Given the description of an element on the screen output the (x, y) to click on. 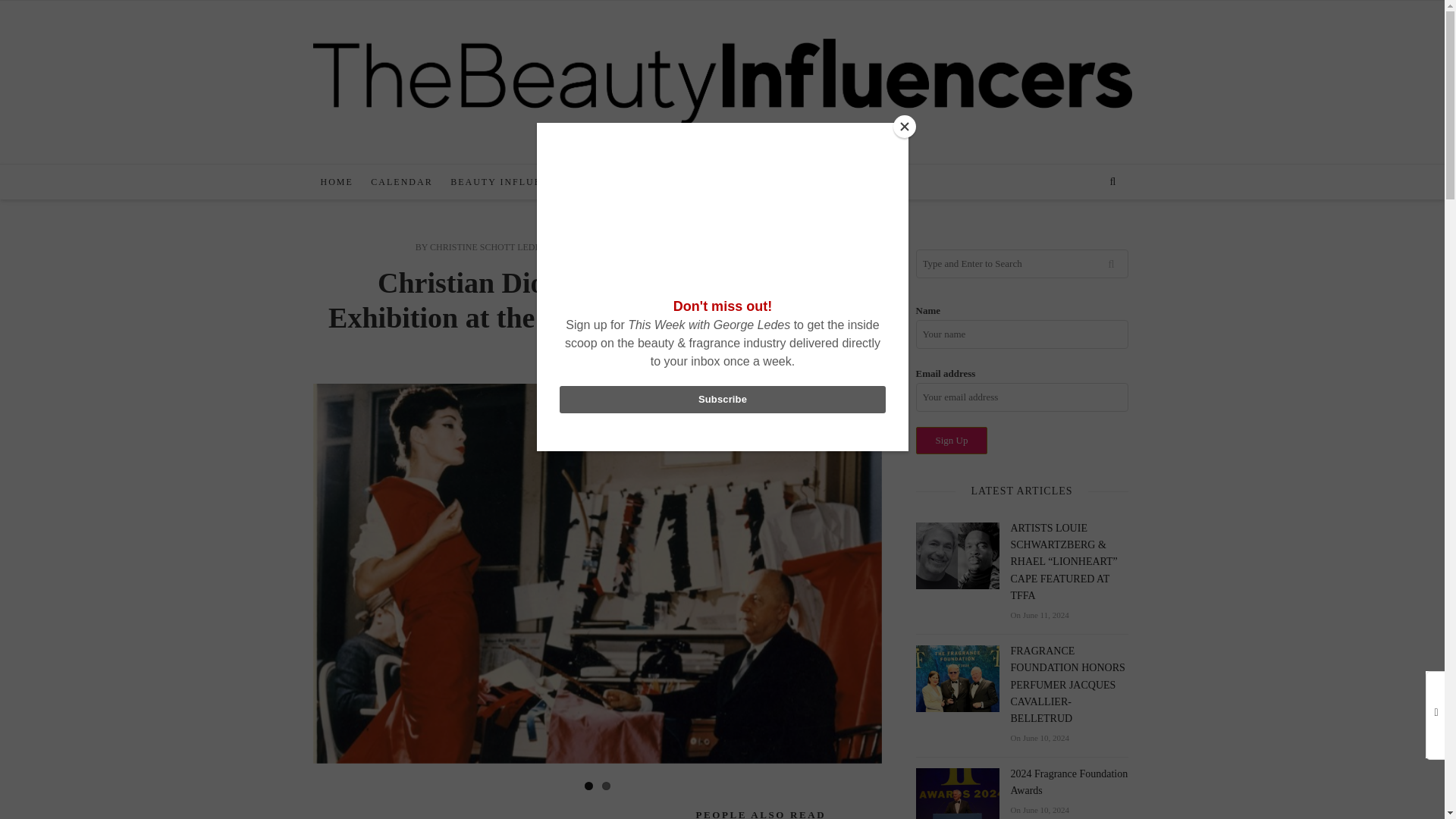
BEAUTY INFLUENCER ASSOCIATION (550, 182)
CHRISTINE SCHOTT LEDES (486, 246)
1 (587, 786)
ABOUT (769, 182)
Sign Up (951, 440)
The Beauty Influencers (722, 80)
2 (606, 786)
SPOTLIGHT (661, 246)
HOME (336, 182)
CALENDAR (400, 182)
SUBSCRIBE (700, 182)
NO COMMENTS (734, 246)
